Given the description of an element on the screen output the (x, y) to click on. 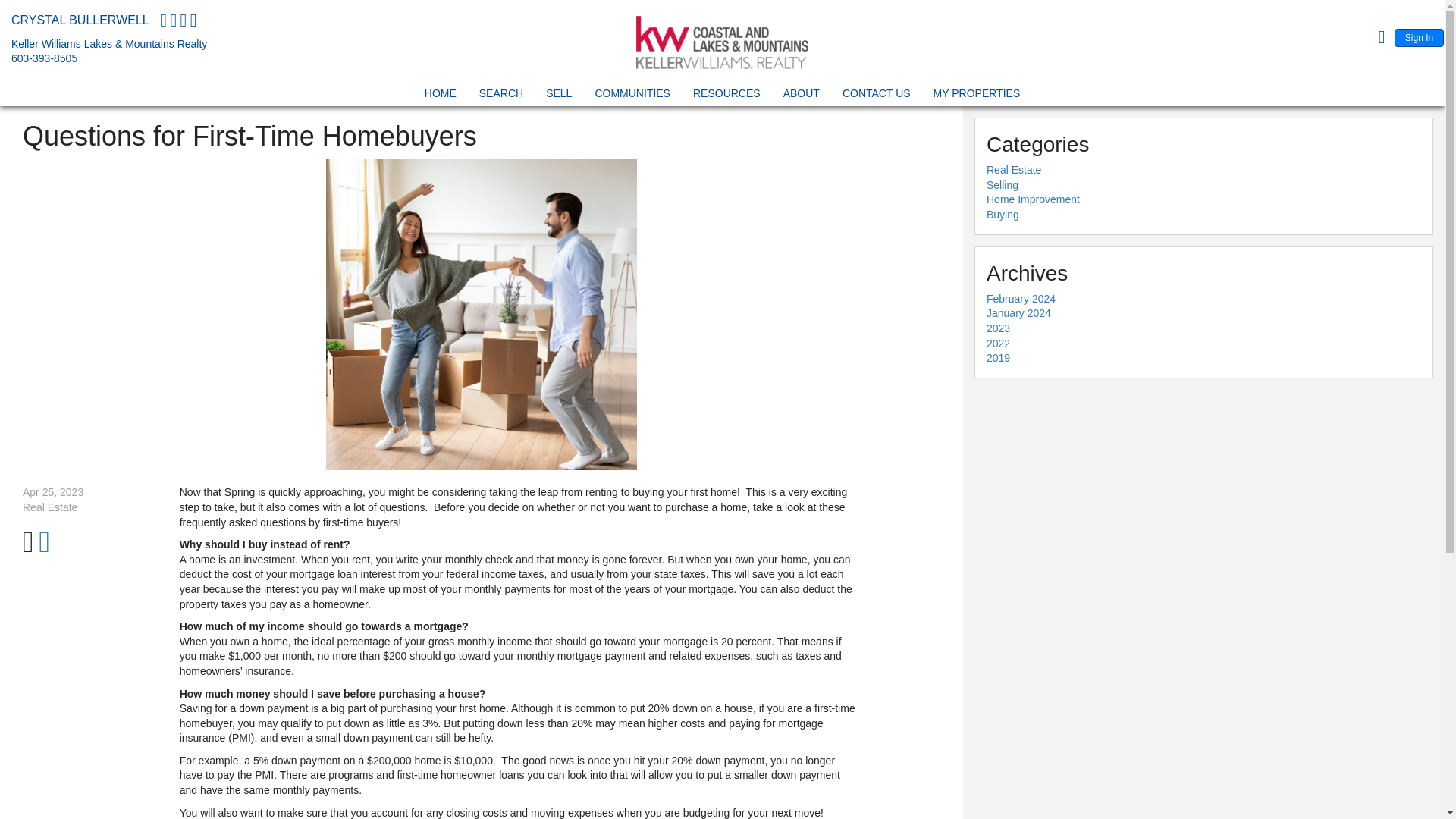
HOME (440, 95)
2019 (998, 357)
Sign In (1419, 37)
SELL (558, 95)
Buying (1003, 214)
February 2024 (1021, 298)
January 2024 (1019, 313)
MY PROPERTIES (977, 95)
CONTACT US (876, 95)
Real Estate (1014, 169)
603-393-8505 (44, 58)
SEARCH (501, 95)
2022 (998, 343)
Selling (1002, 184)
Home Improvement (1033, 199)
